Given the description of an element on the screen output the (x, y) to click on. 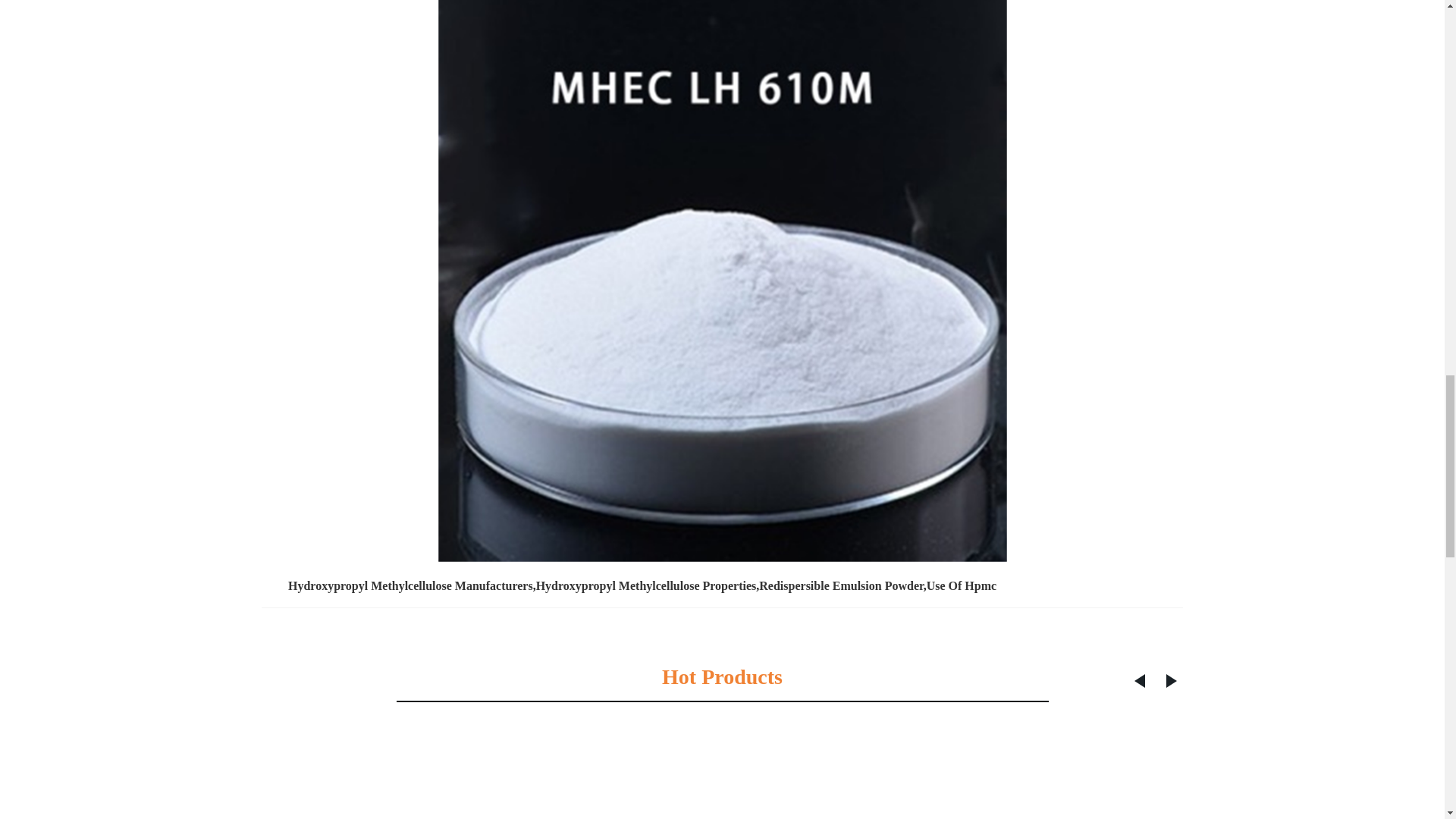
Redispersible Emulsion Powder (840, 585)
Hydroxypropyl Methylcellulose Manufacturers (410, 585)
Use Of Hpmc (960, 585)
Hydroxypropyl Methylcellulose Properties (646, 585)
